Given the description of an element on the screen output the (x, y) to click on. 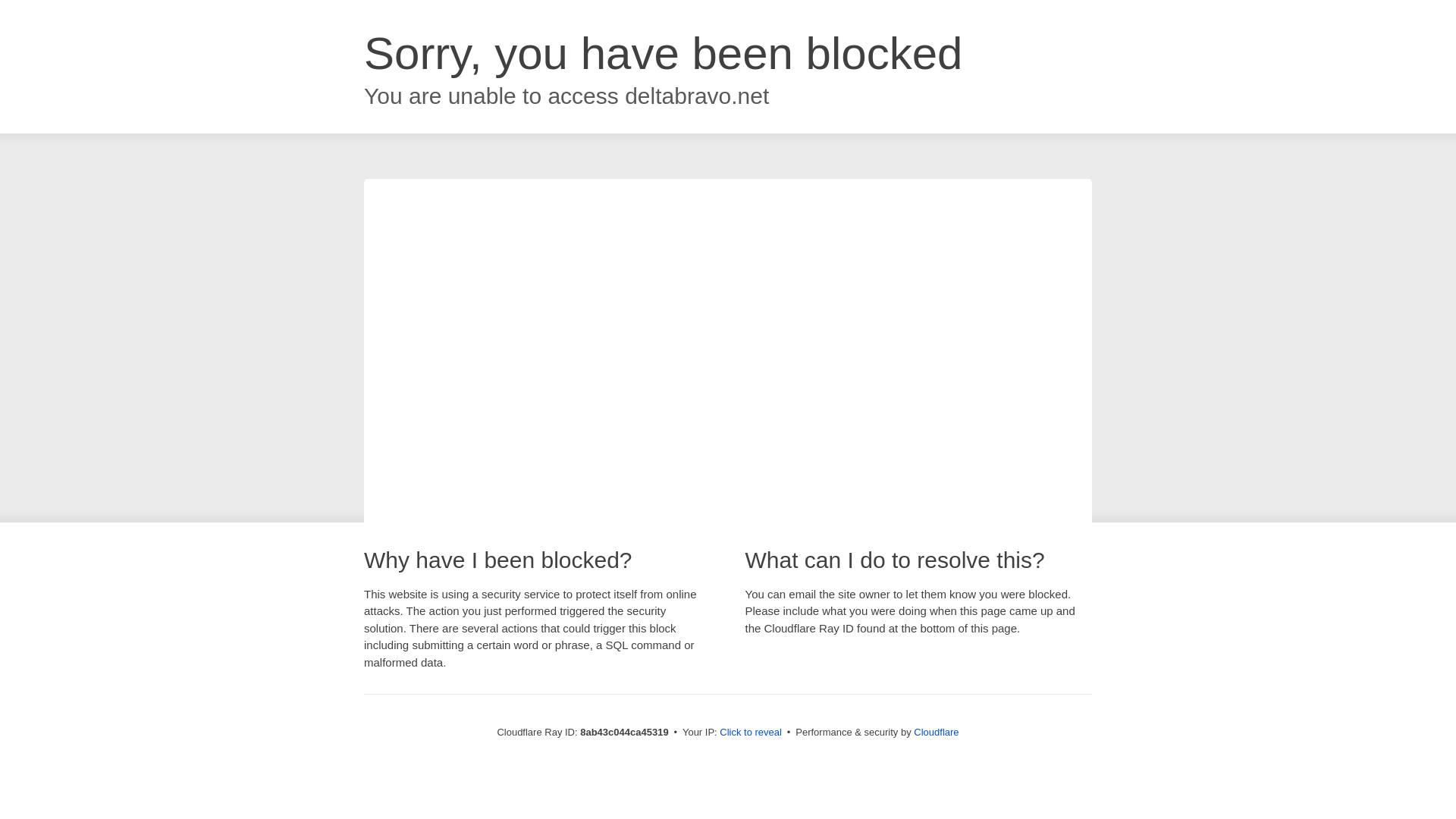
Click to reveal (750, 732)
Cloudflare (936, 731)
